Given the description of an element on the screen output the (x, y) to click on. 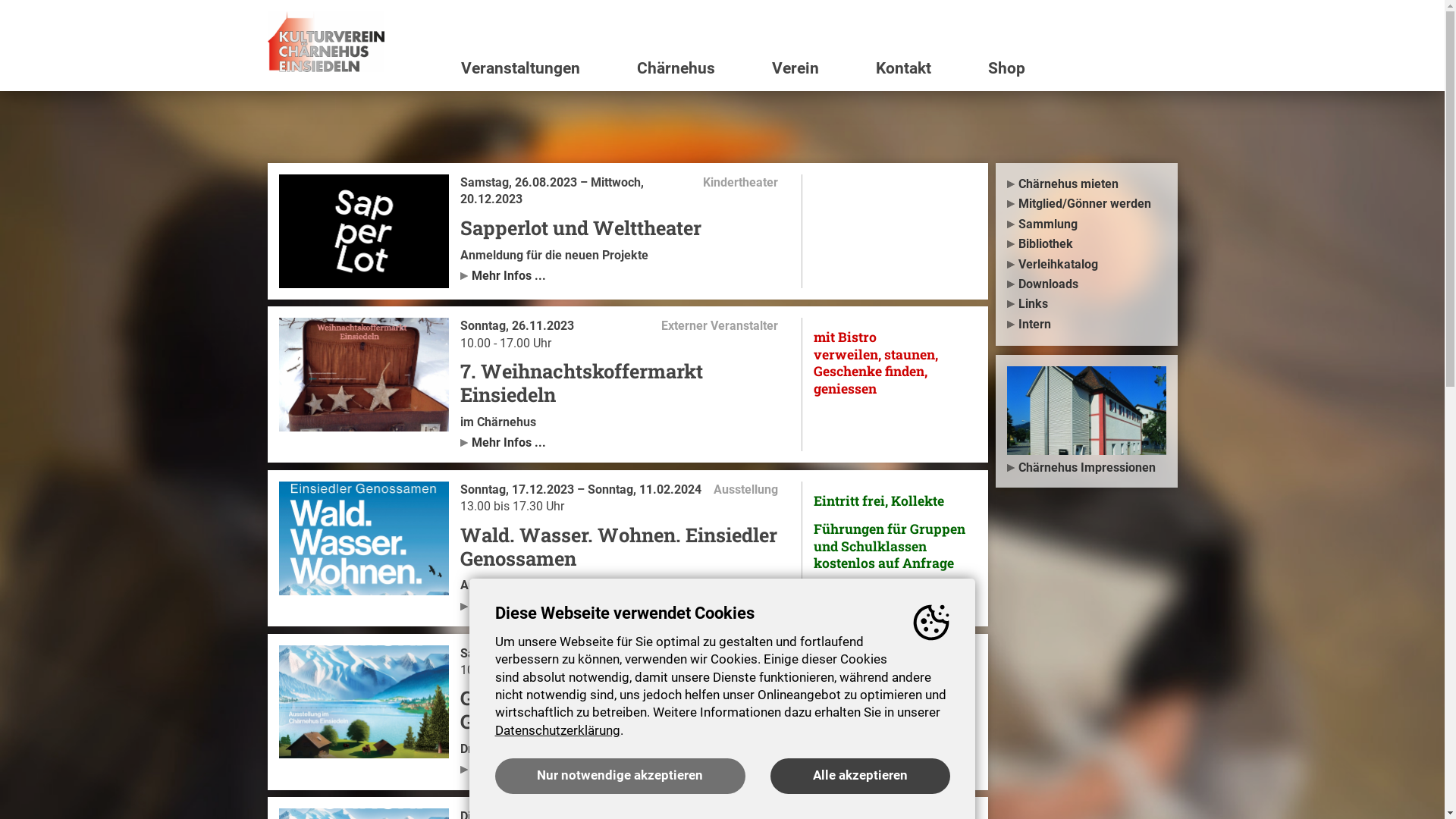
Veranstaltungen Element type: text (536, 68)
Downloads Element type: text (1086, 284)
Verein Element type: text (811, 68)
Alle akzeptieren Element type: text (859, 775)
Nur notwendige akzeptieren Element type: text (619, 775)
Mehr Infos ... Element type: text (624, 604)
Verleihkatalog Element type: text (1086, 264)
Bibliothek Element type: text (1086, 244)
Intern Element type: text (1086, 324)
Shop Element type: text (1076, 68)
Sammlung Element type: text (1086, 224)
Mehr Infos ... Element type: text (624, 273)
Links Element type: text (1086, 303)
Mehr Infos ... Element type: text (624, 440)
Mehr Infos ... Element type: text (624, 767)
Kontakt Element type: text (920, 68)
